Given the description of an element on the screen output the (x, y) to click on. 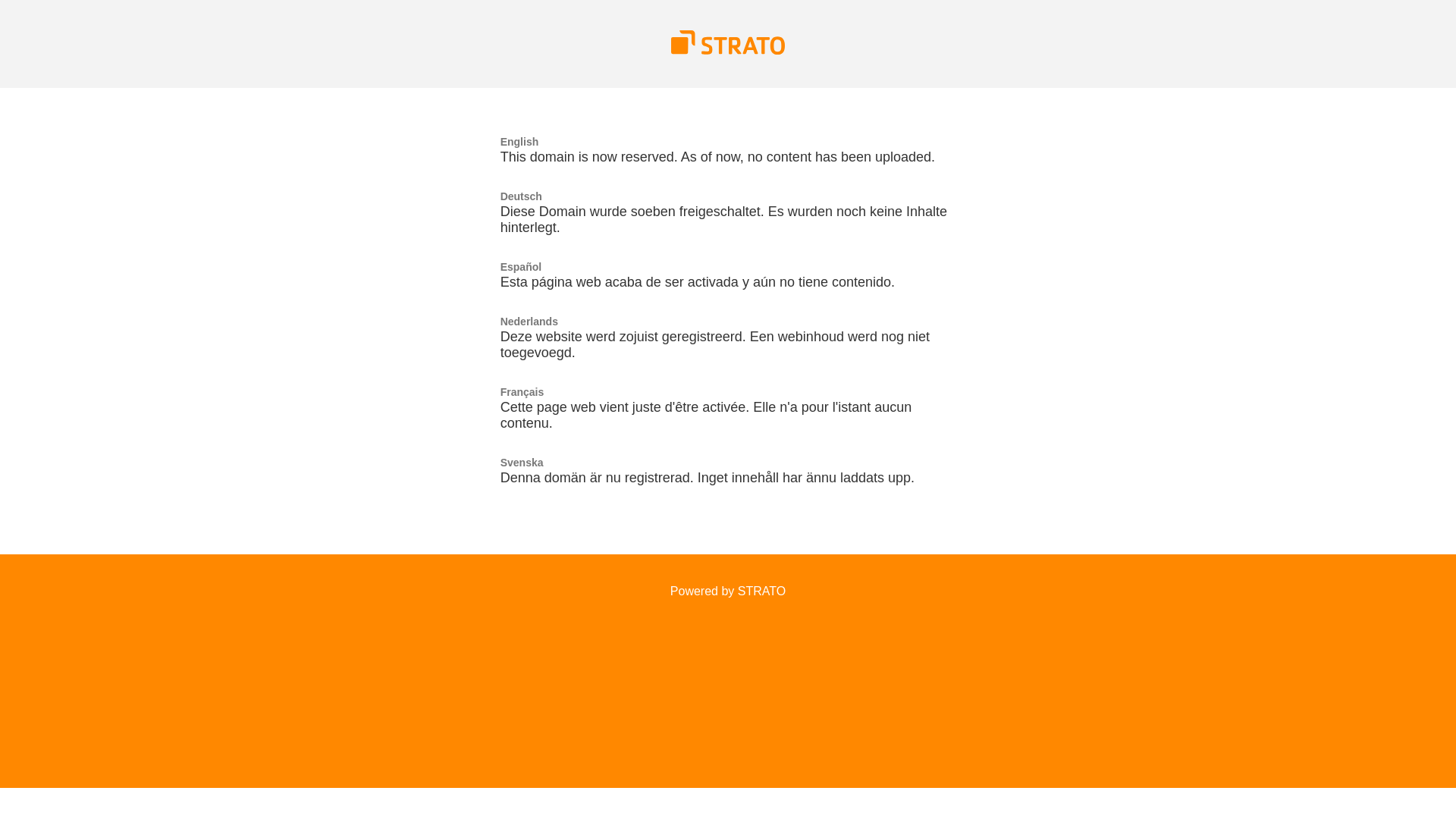
Powered by STRATO Element type: text (727, 590)
